Given the description of an element on the screen output the (x, y) to click on. 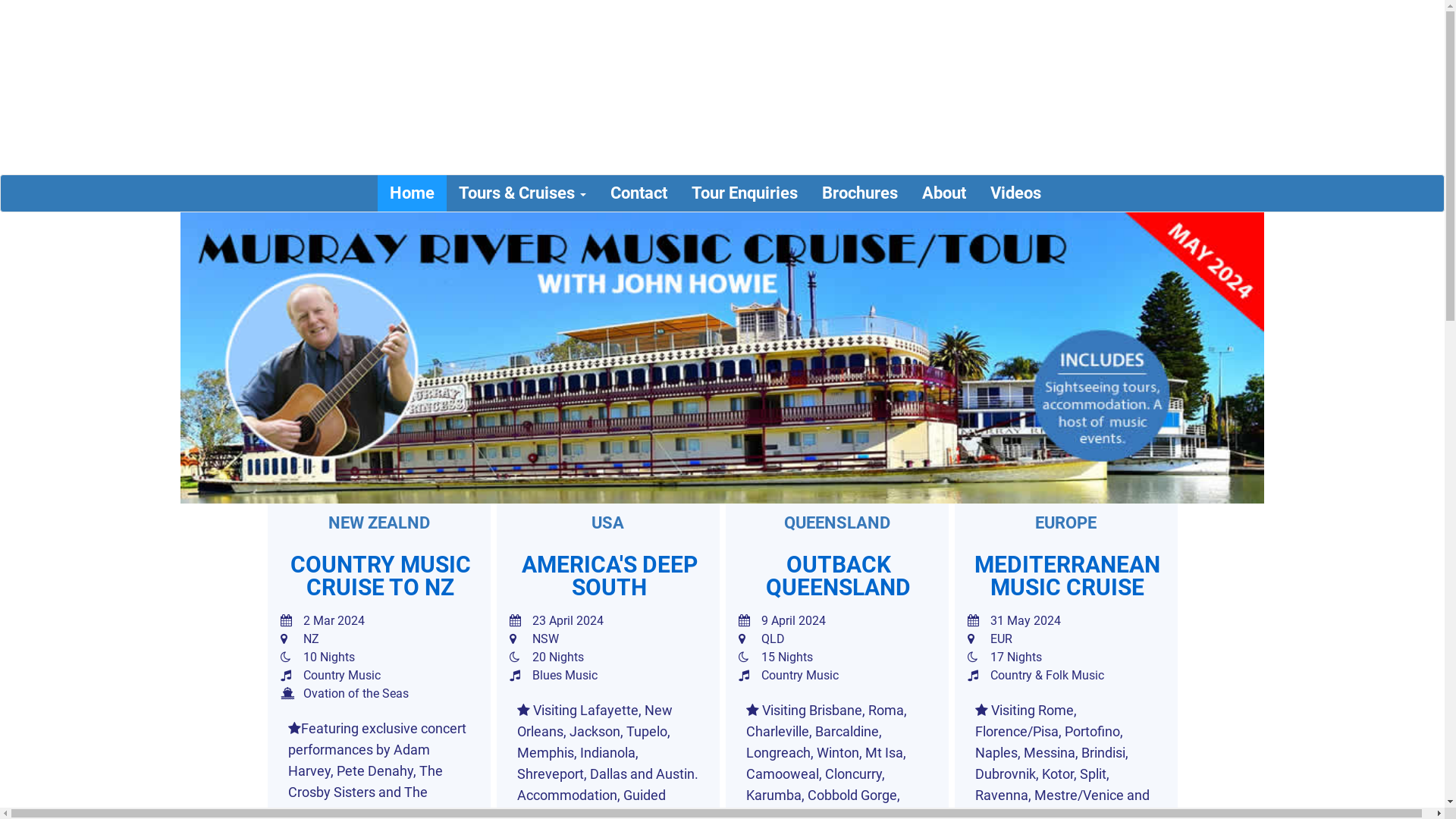
Music Tours on Facebook Element type: hover (1326, 73)
Videos Element type: text (1015, 193)
Tour Enquiries Element type: text (744, 193)
Home Element type: text (411, 193)
1800 630 343 Element type: text (1293, 41)
About Element type: text (944, 193)
Brochures Element type: text (859, 193)
johnhowiemusictours@hotmail.com Element type: text (1217, 18)
Tours & Cruises Element type: text (521, 193)
Contact Element type: text (637, 193)
